Given the description of an element on the screen output the (x, y) to click on. 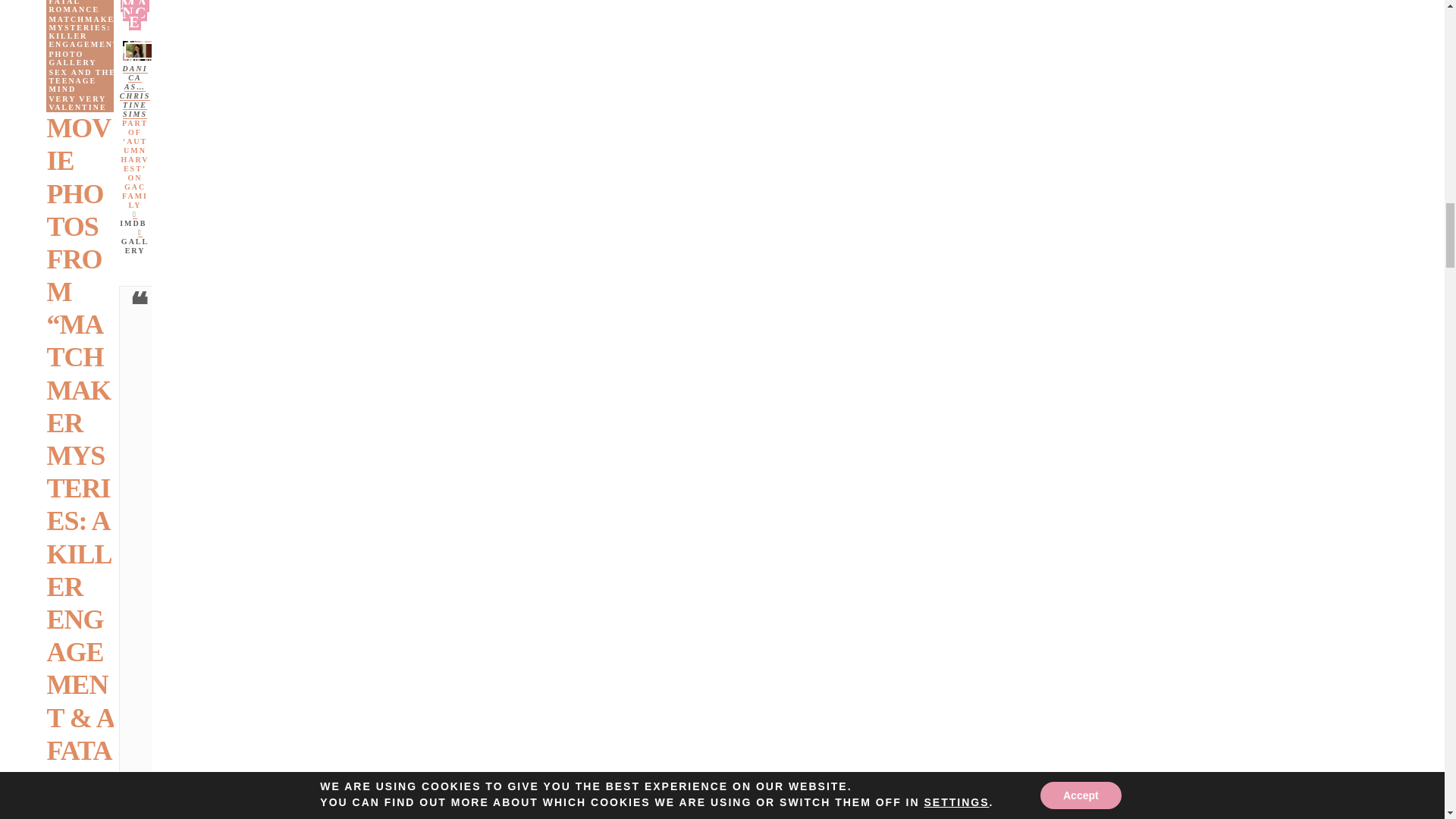
VERY VERY VALENTINE (84, 103)
MATCHMAKER MYSTERIES: A FATAL ROMANCE (84, 7)
PHOTO GALLERY (84, 58)
MATCHMAKER MYSTERIES: A KILLER ENGAGEMENT (84, 31)
SEX AND THE TEENAGE MIND (84, 80)
